Given the description of an element on the screen output the (x, y) to click on. 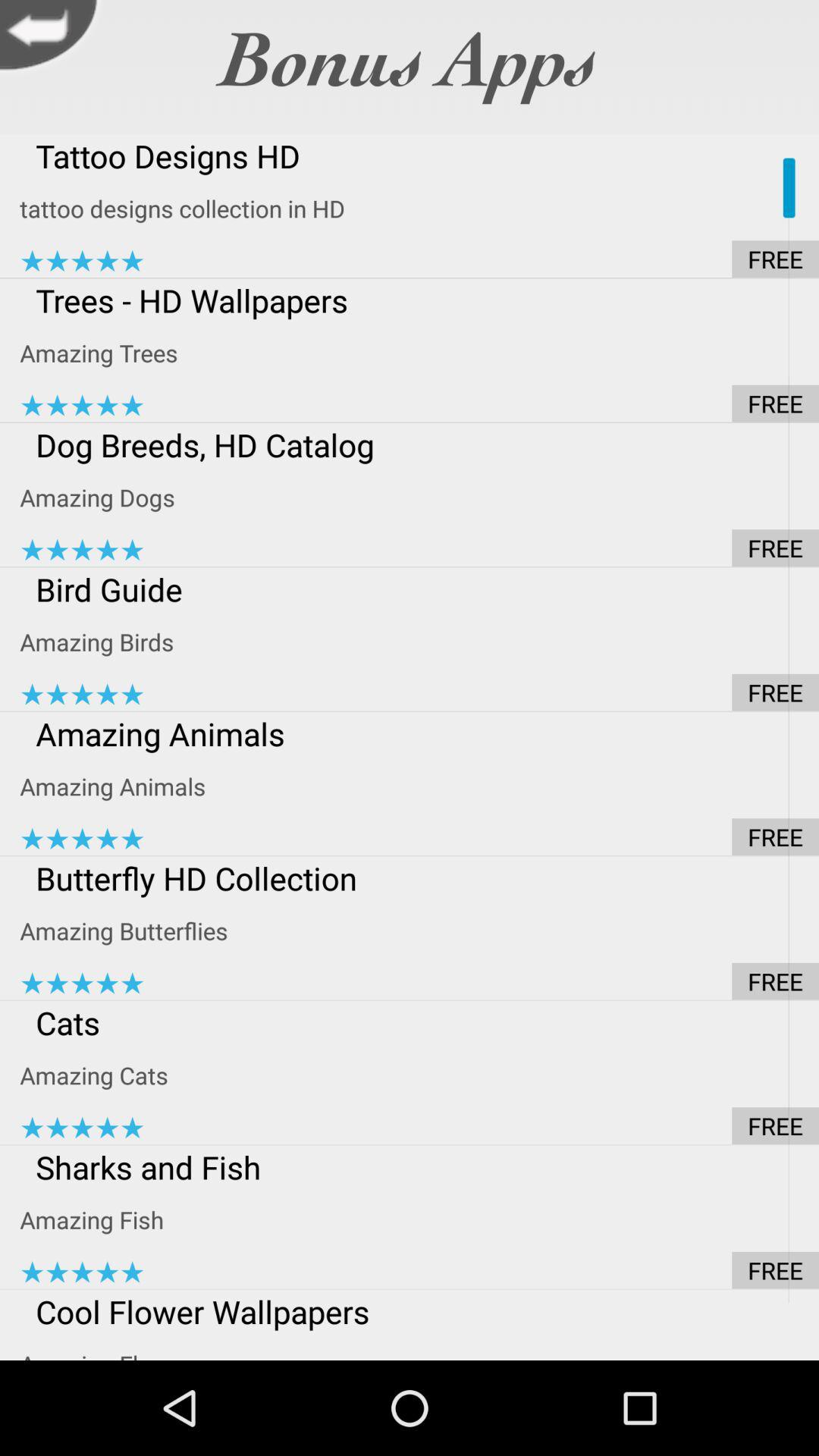
choose the item below   cool flower wallpapers  item (419, 1346)
